Given the description of an element on the screen output the (x, y) to click on. 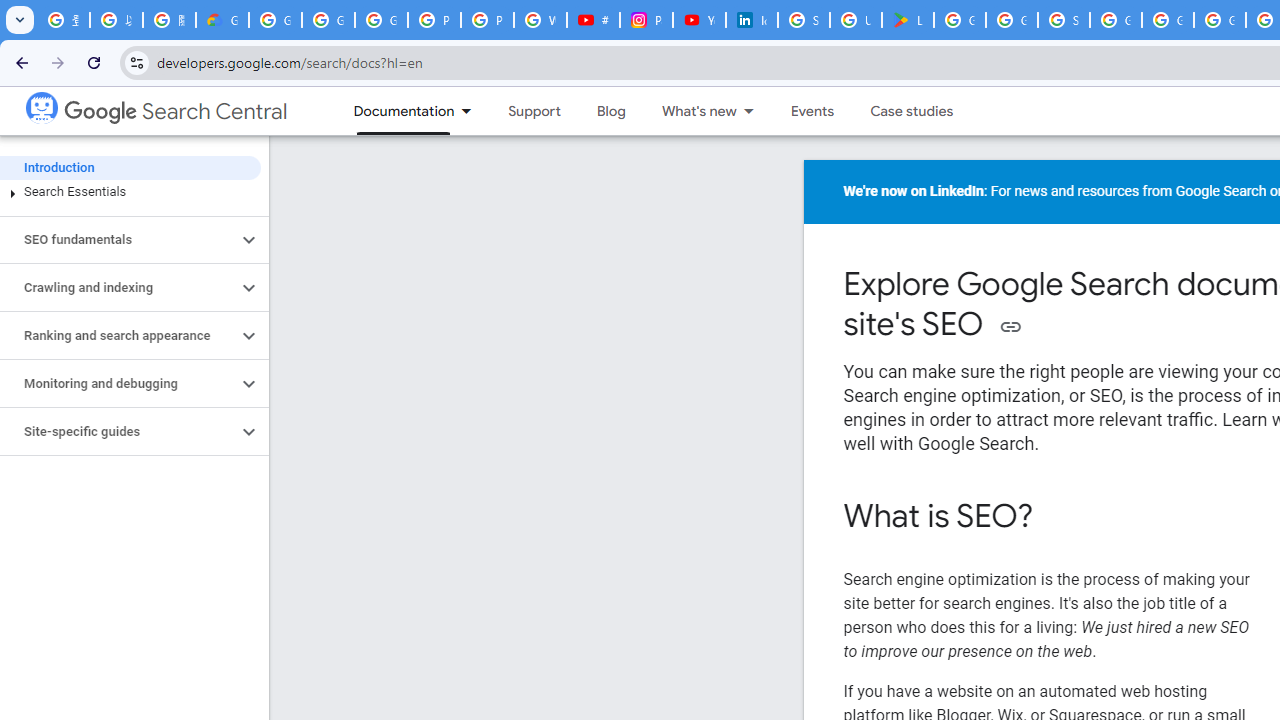
#nbabasketballhighlights - YouTube (593, 20)
Privacy Help Center - Policies Help (487, 20)
Copy link to this section: What is SEO?  (1060, 518)
YouTube Culture & Trends - On The Rise: Handcam Videos (699, 20)
What's new (689, 111)
Google Cloud Platform (1167, 20)
Site-specific guides (118, 431)
SEO fundamentals (118, 239)
